Given the description of an element on the screen output the (x, y) to click on. 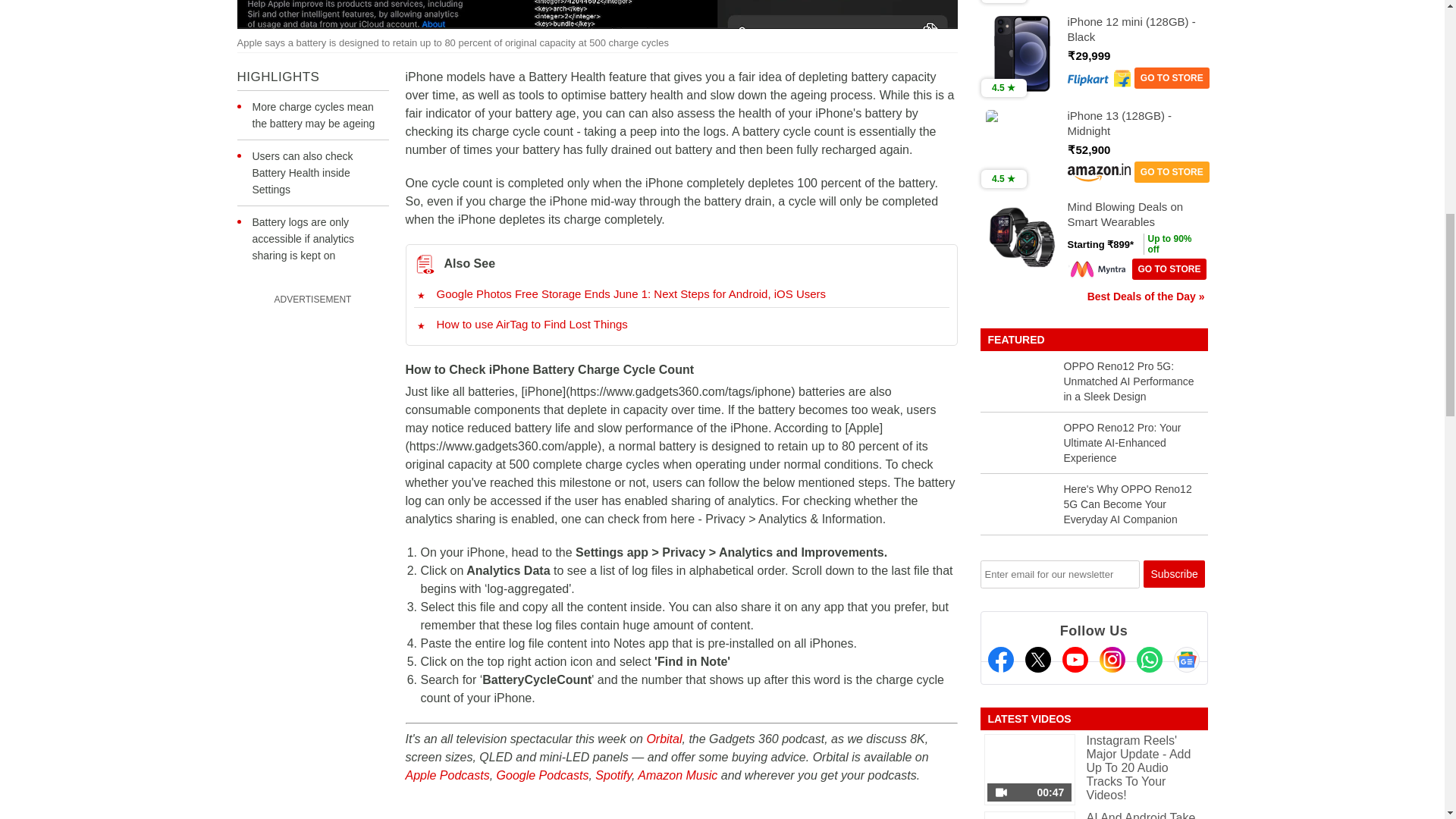
Subscribe (1173, 574)
